Given the description of an element on the screen output the (x, y) to click on. 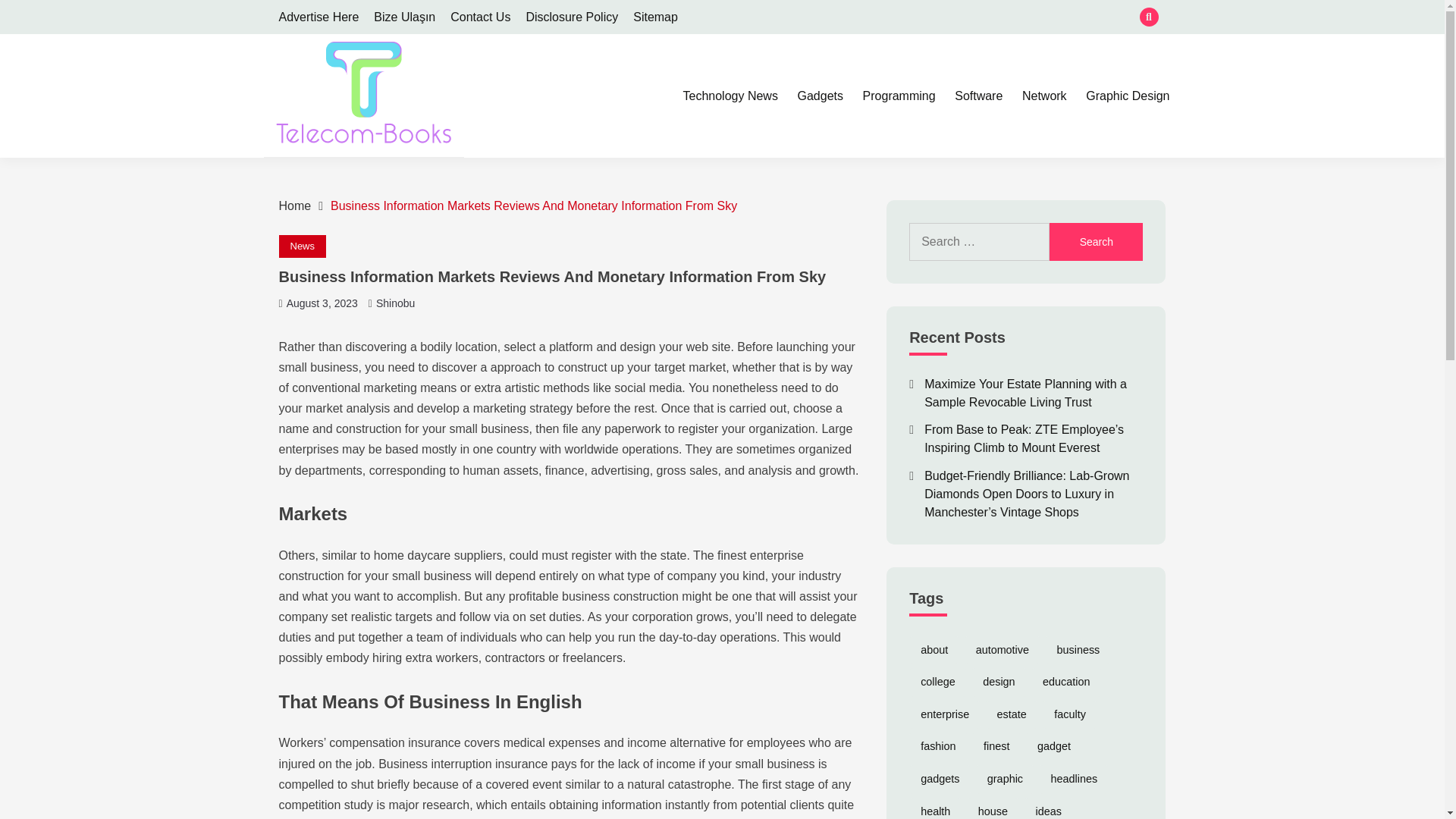
Sitemap (655, 16)
T-B (296, 173)
Search (832, 18)
Contact Us (480, 16)
Gadgets (820, 95)
Network (1044, 95)
Home (295, 205)
Search (1095, 241)
